Given the description of an element on the screen output the (x, y) to click on. 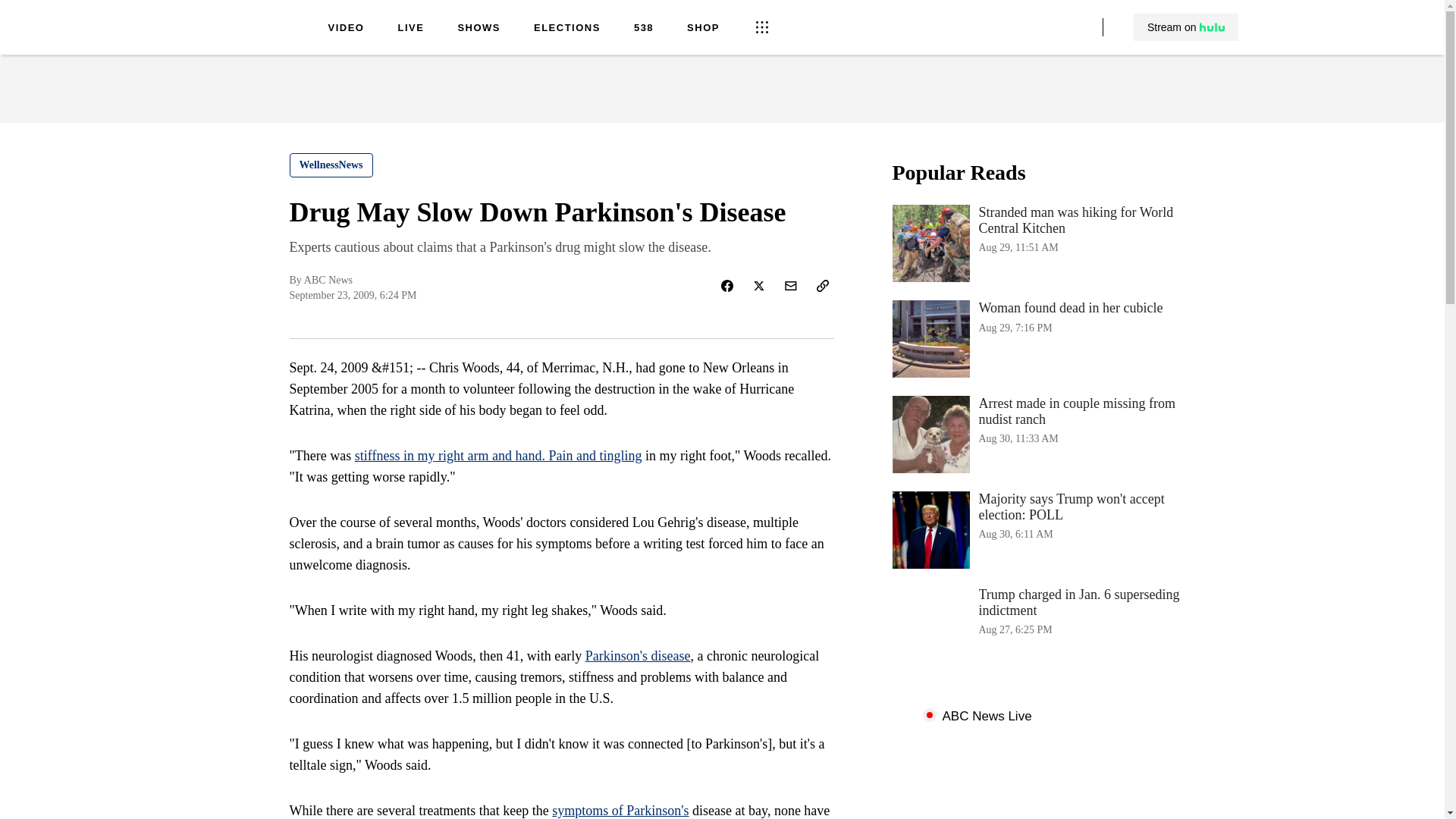
ABC News (250, 38)
SHOP (703, 28)
LIVE (1043, 338)
Parkinson's disease (410, 28)
538 (637, 655)
WellnessNews (643, 28)
VIDEO (330, 165)
